Given the description of an element on the screen output the (x, y) to click on. 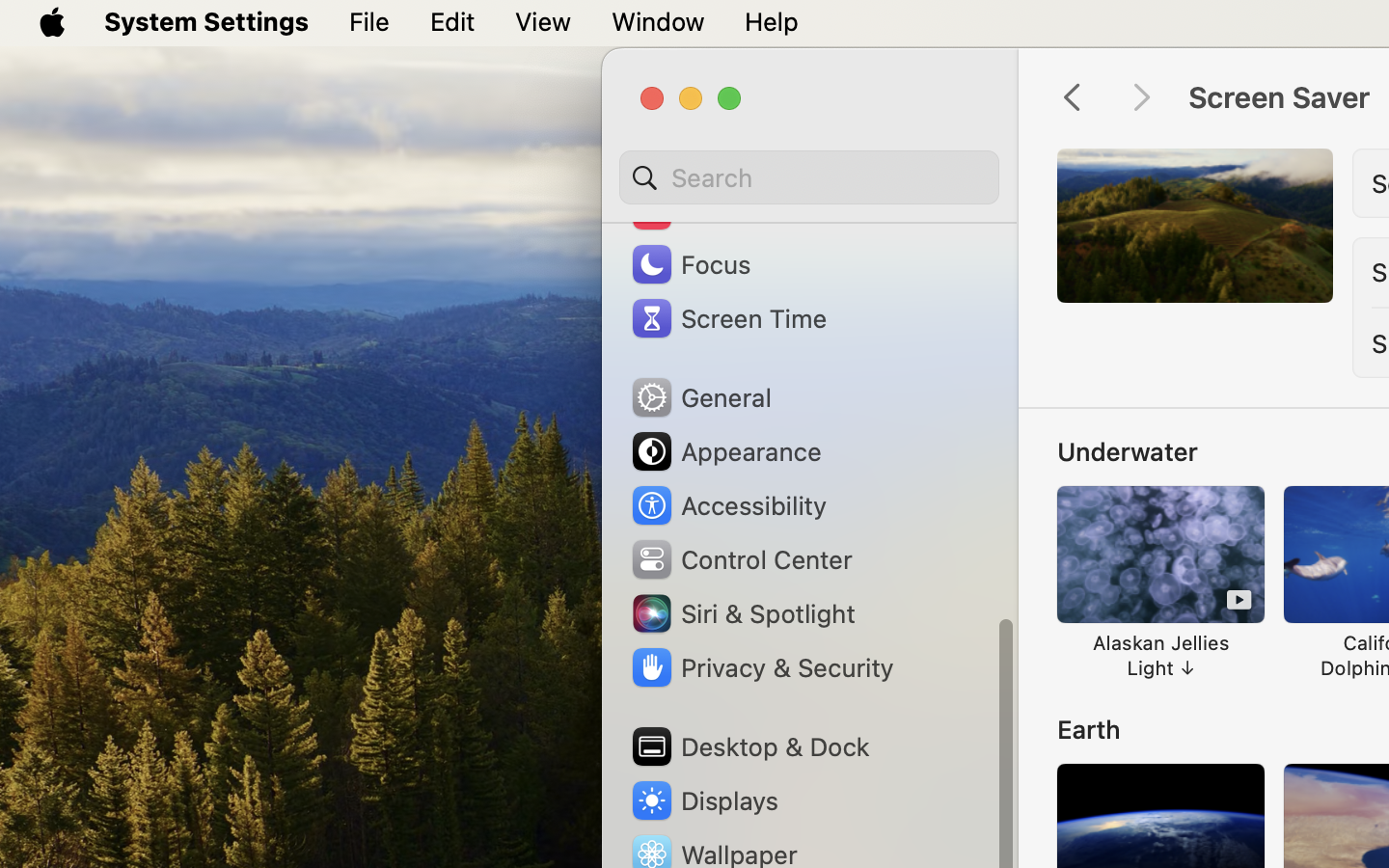
Desktop & Dock Element type: AXStaticText (749, 746)
General Element type: AXStaticText (699, 397)
Siri & Spotlight Element type: AXStaticText (741, 613)
Focus Element type: AXStaticText (689, 264)
Screen Time Element type: AXStaticText (727, 318)
